Given the description of an element on the screen output the (x, y) to click on. 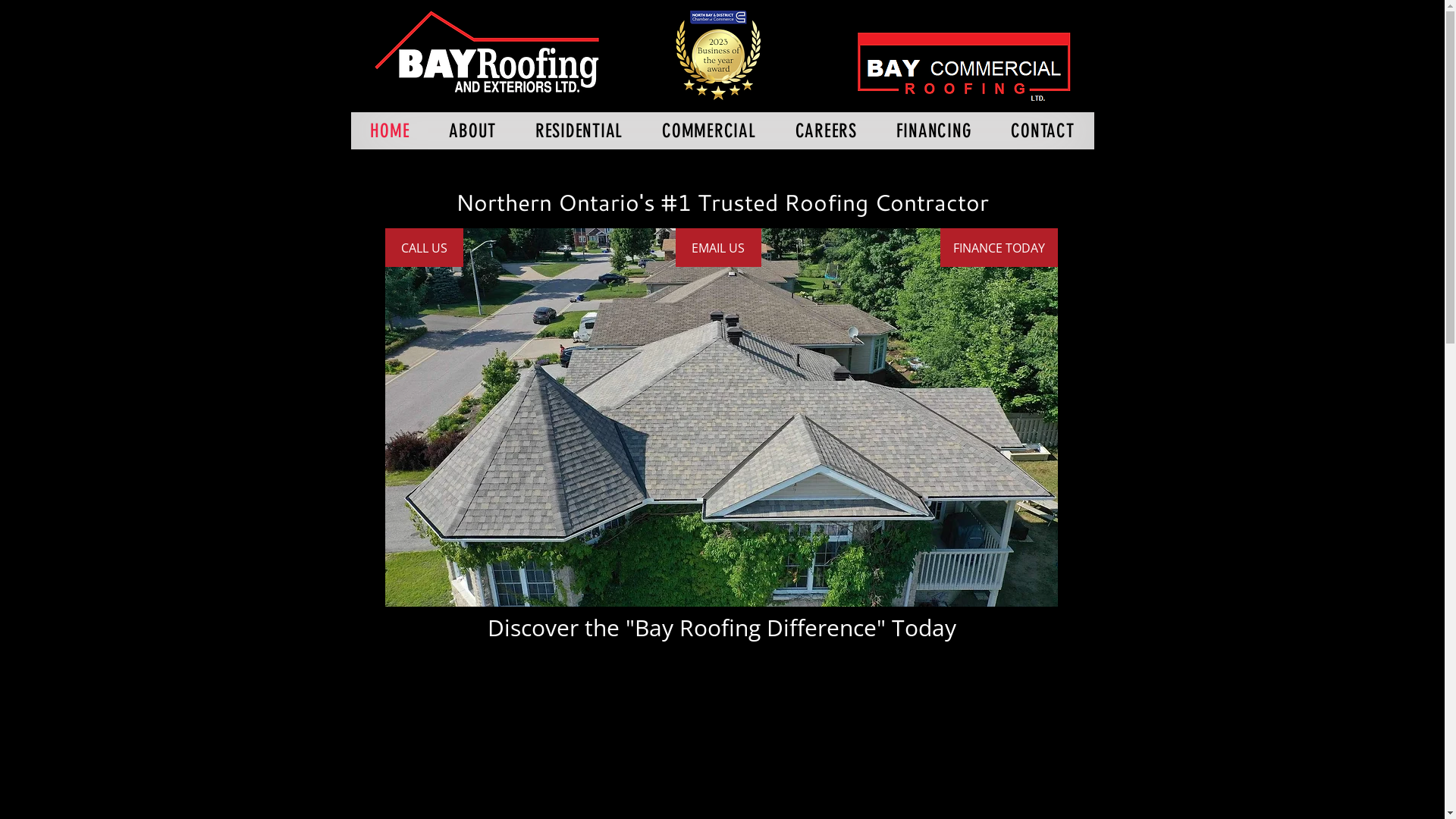
FINANCING Element type: text (933, 130)
CAREERS Element type: text (825, 130)
CALL US Element type: text (424, 247)
RESIDENTIAL Element type: text (578, 130)
CONTACT Element type: text (1042, 130)
COMMERCIAL Element type: text (708, 130)
FINANCE TODAY Element type: text (998, 247)
ABOUT Element type: text (472, 130)
HOME Element type: text (389, 130)
EMAIL US Element type: text (717, 247)
